Given the description of an element on the screen output the (x, y) to click on. 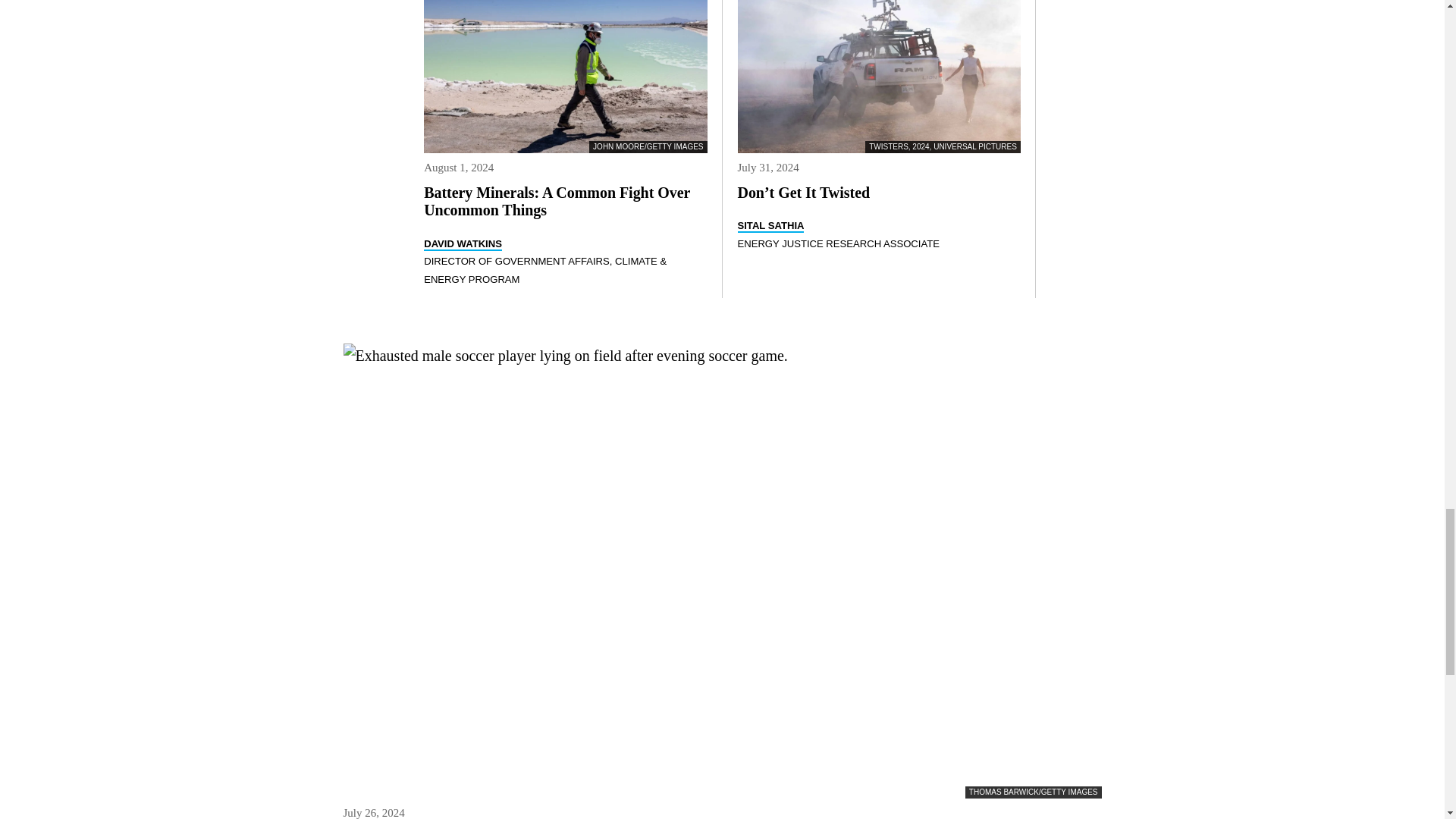
SITAL SATHIA (769, 226)
TWISTERS, 2024, UNIVERSAL PICTURES (878, 76)
Battery Minerals: A Common Fight Over Uncommon Things (556, 202)
DAVID WATKINS (462, 244)
